Given the description of an element on the screen output the (x, y) to click on. 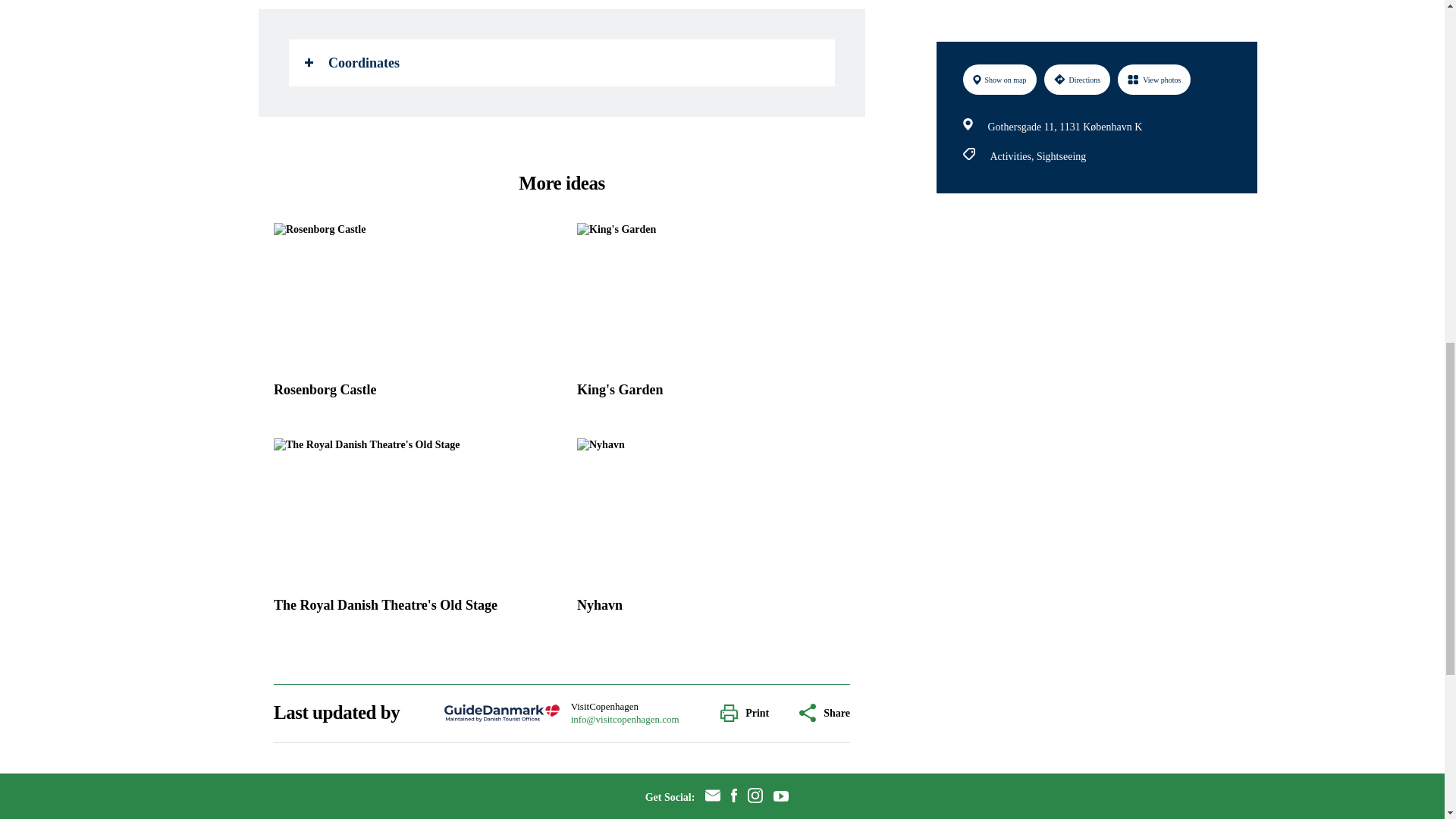
youtube (780, 797)
Coordinates (561, 62)
Nyhavn (713, 530)
The Royal Danish Theatre's Old Stage (410, 530)
instagram (755, 797)
facebook (733, 797)
King's Garden (713, 314)
Rosenborg Castle (410, 314)
newsletter (712, 797)
